Given the description of an element on the screen output the (x, y) to click on. 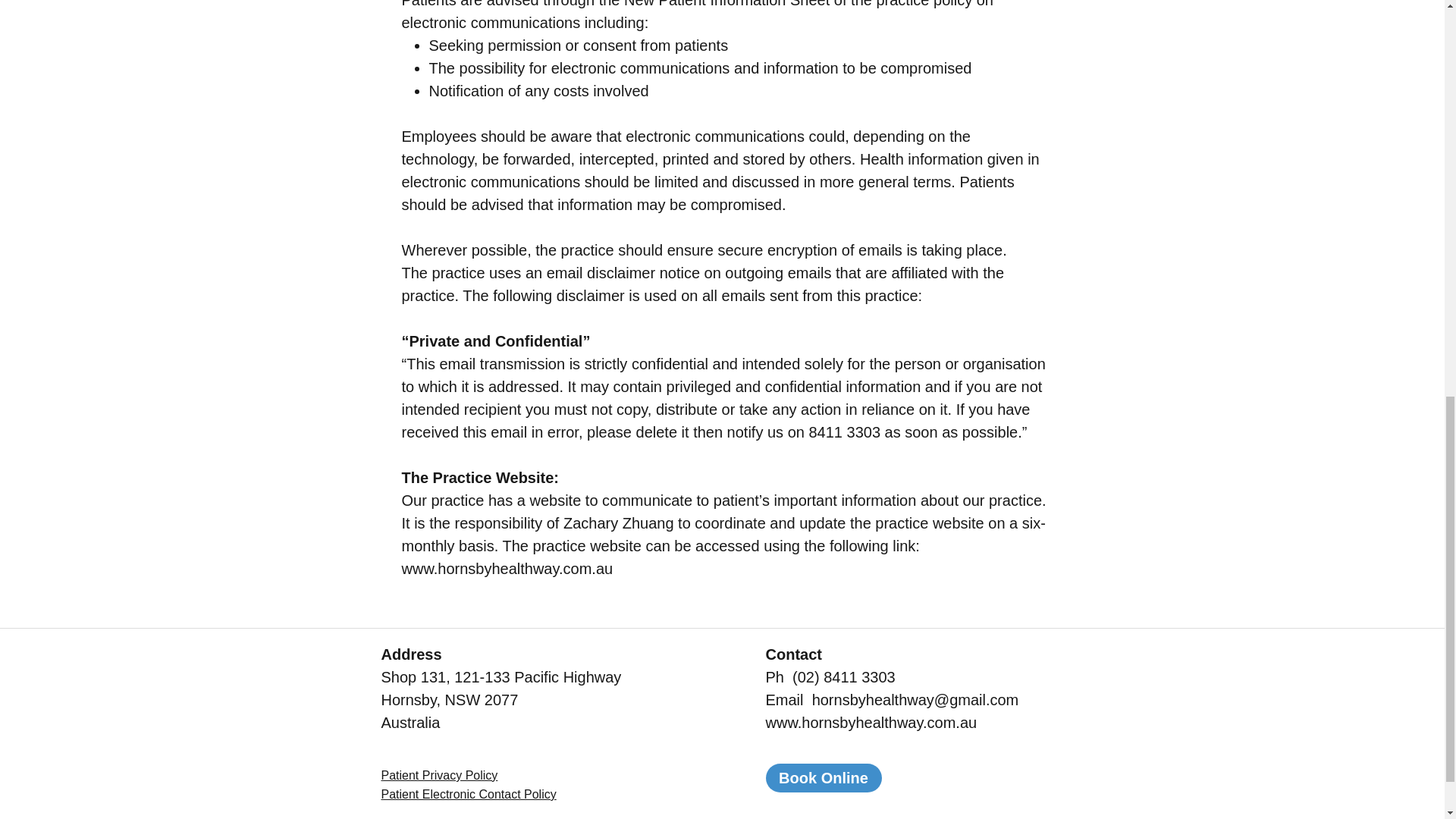
www.hornsbyhealthway.com.au (870, 722)
Patient Privacy Policy (438, 775)
www.hornsbyhealthway.com.au (506, 568)
Book Online (823, 777)
Patient Electronic Contact Policy (468, 793)
